Given the description of an element on the screen output the (x, y) to click on. 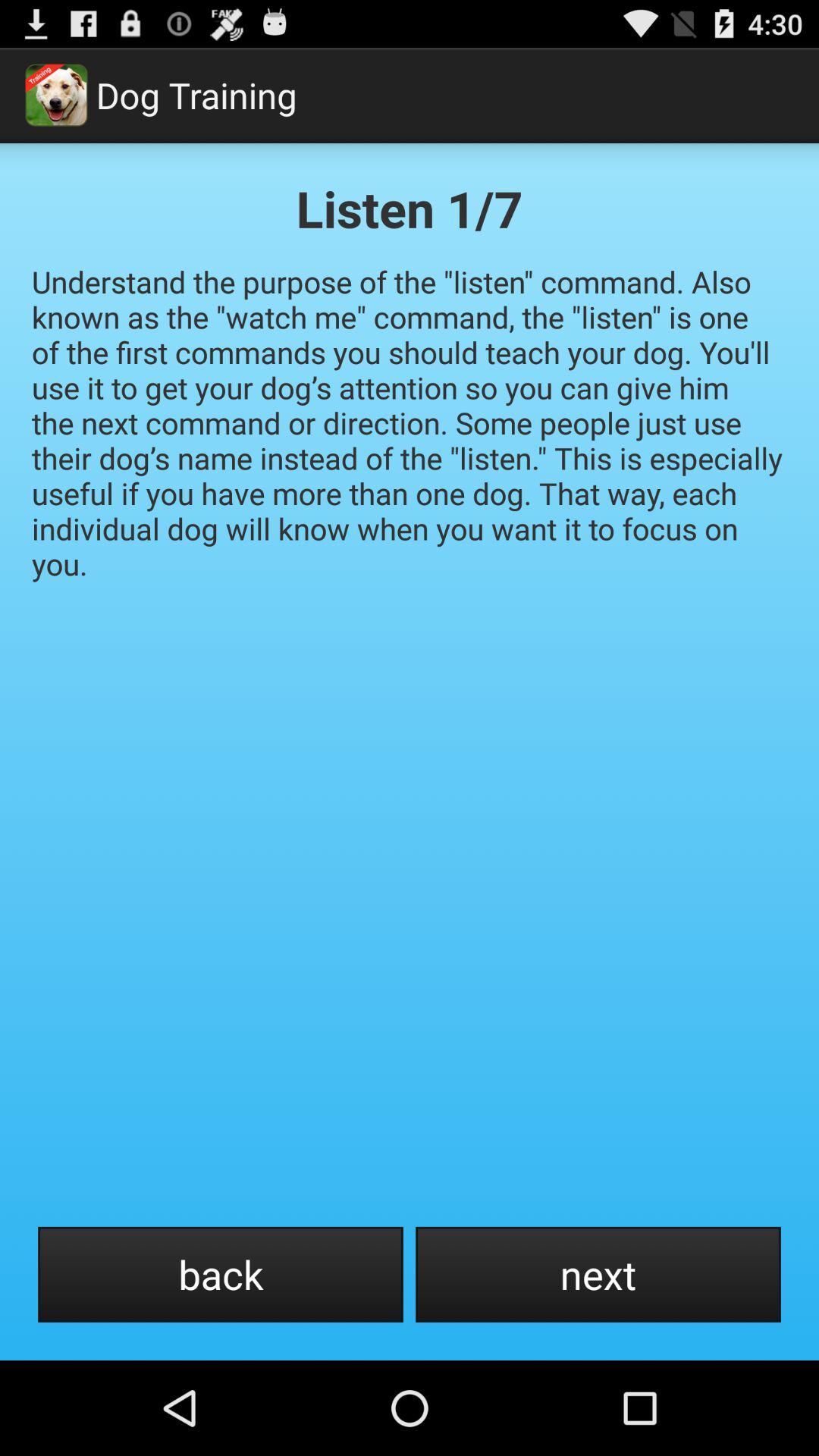
launch item at the bottom right corner (597, 1274)
